Given the description of an element on the screen output the (x, y) to click on. 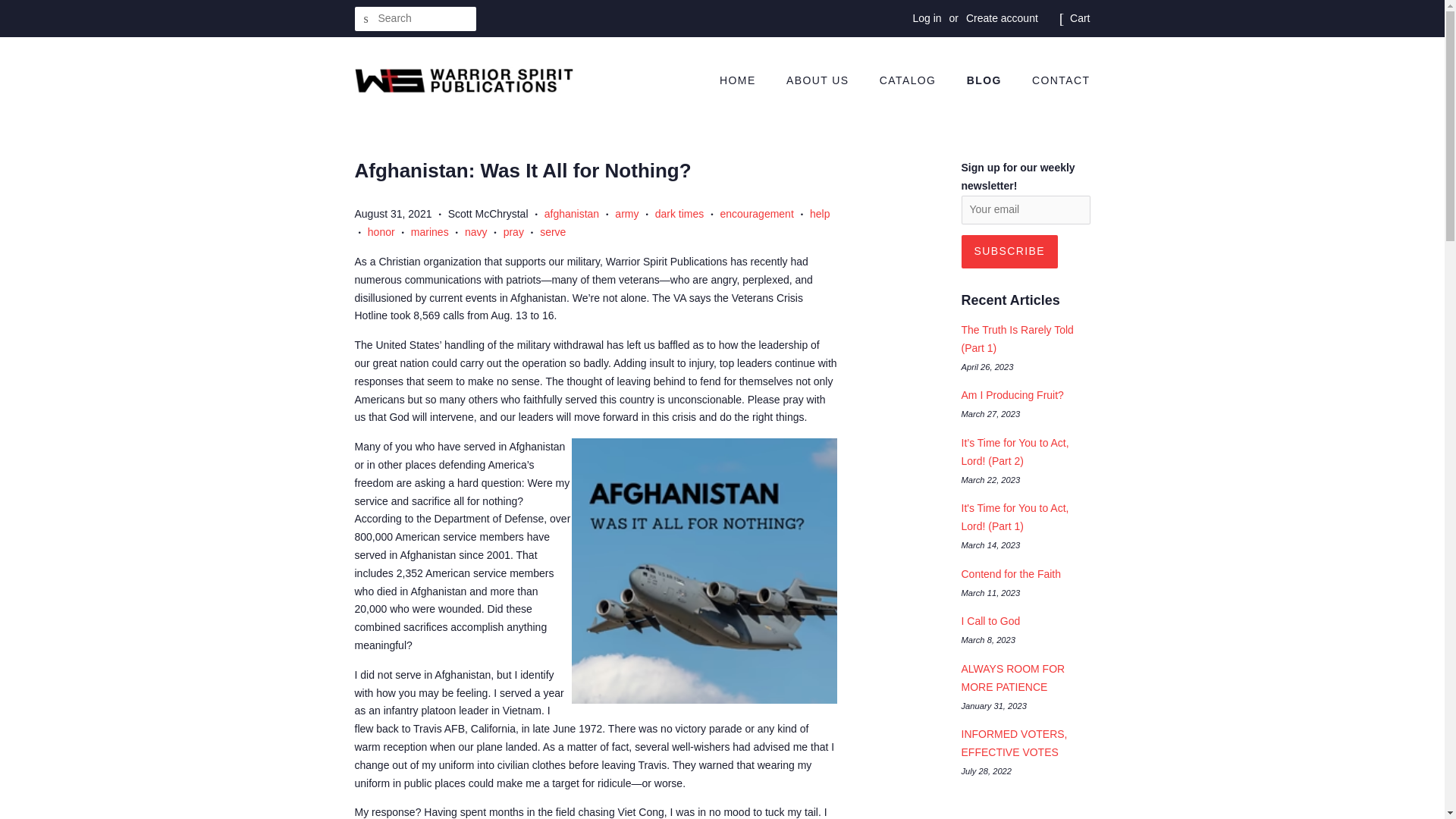
ABOUT US (819, 80)
Create account (1002, 18)
Subscribe (1009, 251)
CATALOG (909, 80)
serve (553, 232)
navy (475, 232)
SEARCH (366, 18)
CONTACT (1054, 80)
encouragement (756, 214)
pray (513, 232)
